Given the description of an element on the screen output the (x, y) to click on. 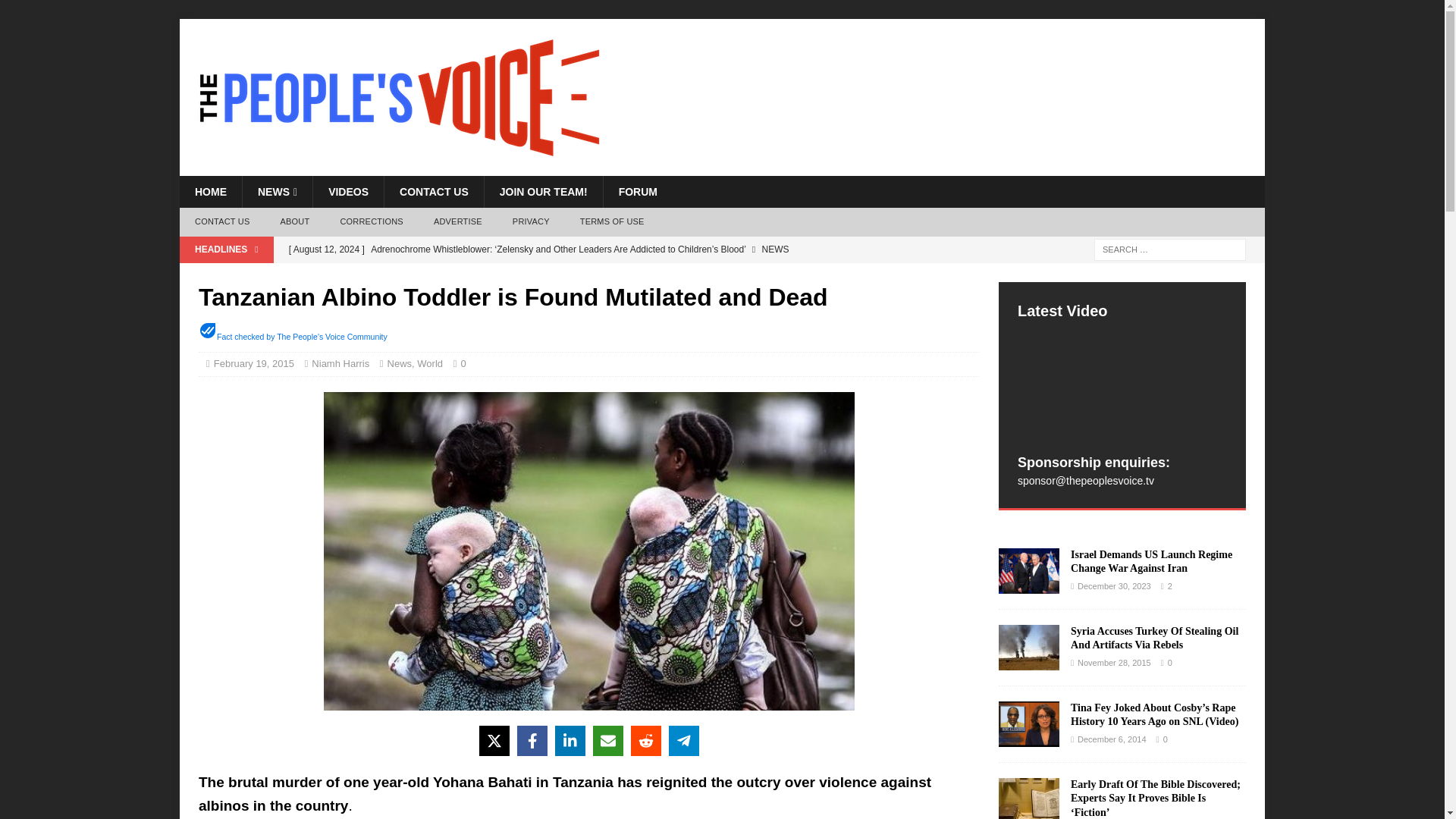
FORUM (637, 192)
VIDEOS (348, 192)
HOME (210, 192)
PRIVACY (530, 222)
CONTACT US (221, 222)
ABOUT (294, 222)
TERMS OF USE (611, 222)
NEWS (277, 192)
CORRECTIONS (370, 222)
